Given the description of an element on the screen output the (x, y) to click on. 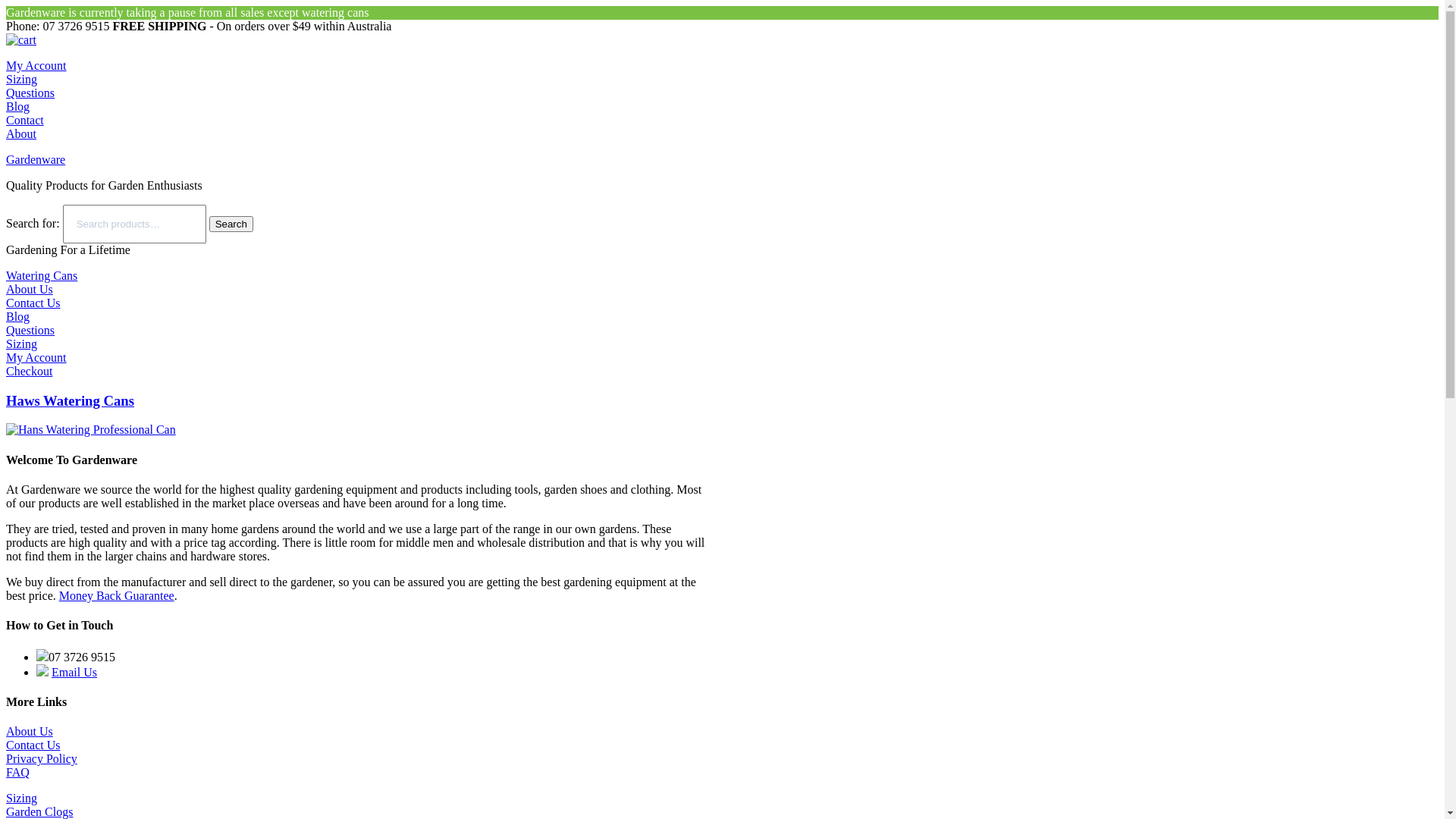
Sizing Element type: text (21, 78)
Contact Element type: text (24, 119)
Questions Element type: text (30, 92)
Contact Us Element type: text (33, 302)
Contact Us Element type: text (33, 744)
Watering Cans Element type: text (41, 275)
Email Us Element type: text (74, 671)
FAQ Element type: text (17, 771)
Cart Element type: hover (21, 39)
Questions Element type: text (30, 329)
Sizing Element type: text (21, 343)
About Element type: text (21, 133)
My Account Element type: text (36, 65)
Search Element type: text (231, 224)
Checkout Element type: text (29, 370)
Money Back Guarantee Element type: text (116, 595)
Privacy Policy Element type: text (41, 758)
Blog Element type: text (17, 316)
Haws Watering Cans Element type: text (70, 400)
My Account Element type: text (36, 357)
Sizing Element type: text (21, 797)
Blog Element type: text (17, 106)
About Us Element type: text (29, 288)
Gardenware Element type: text (35, 159)
About Us Element type: text (29, 730)
Hans Watering Cans Element type: hover (90, 429)
Garden Clogs Element type: text (39, 811)
